Given the description of an element on the screen output the (x, y) to click on. 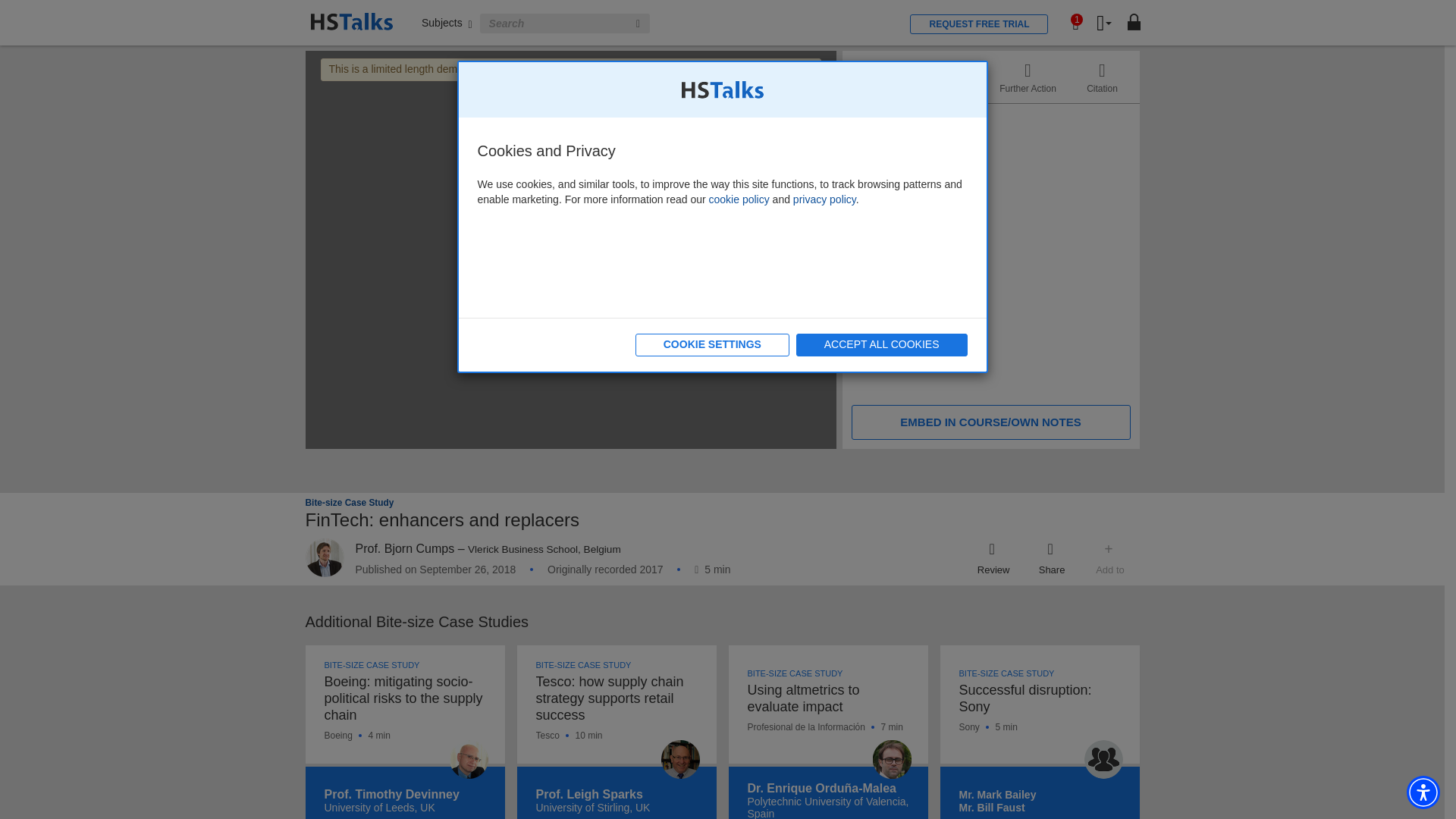
REQUEST FREE TRIAL (979, 24)
User (1104, 23)
Info (879, 76)
Accessibility Menu (1422, 792)
Search (638, 23)
Subjects   (446, 22)
